Given the description of an element on the screen output the (x, y) to click on. 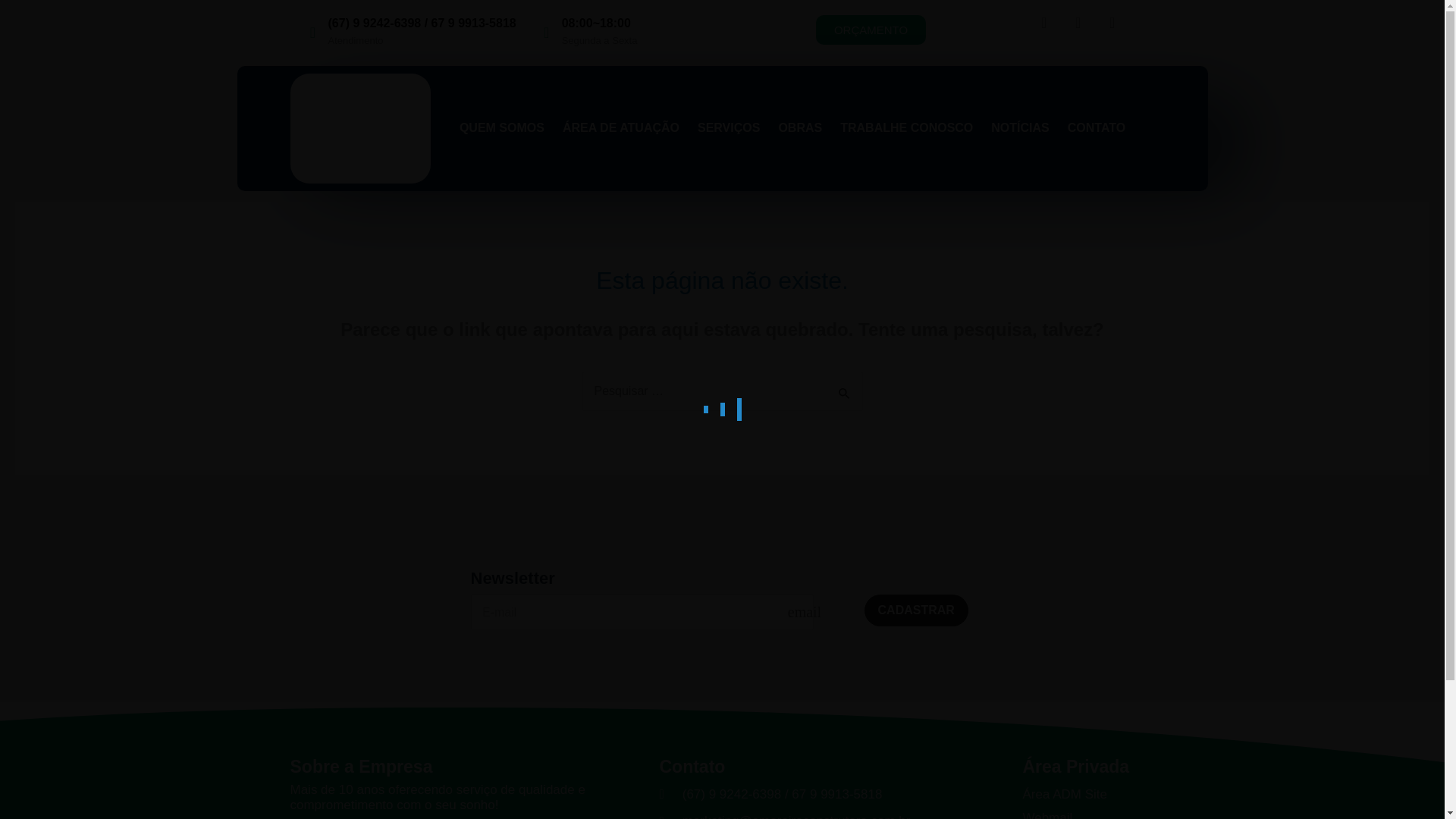
OBRAS (800, 127)
QUEM SOMOS (502, 127)
CONTATO (1095, 127)
TRABALHE CONOSCO (906, 127)
